Given the description of an element on the screen output the (x, y) to click on. 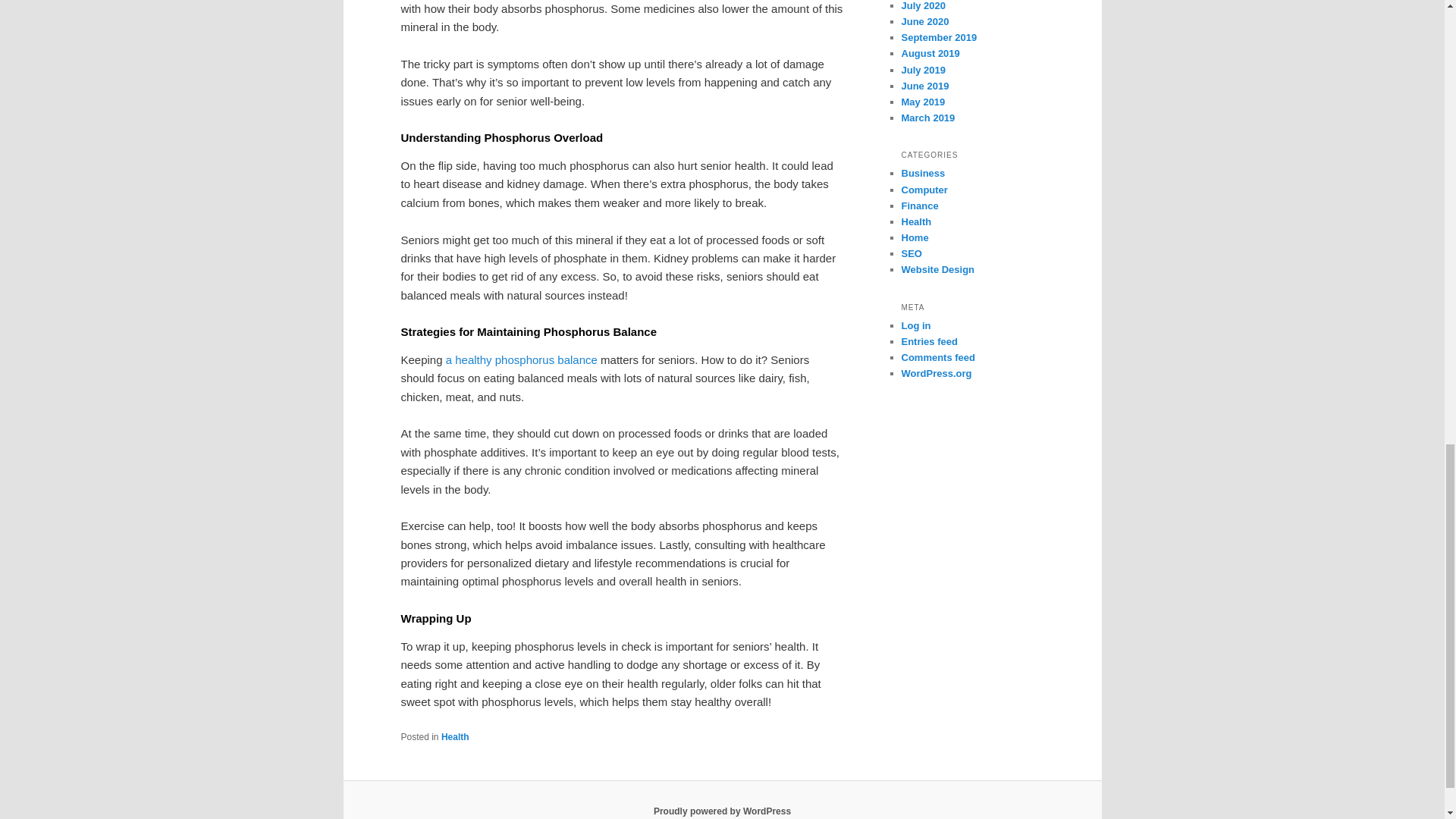
July 2020 (922, 5)
Health (454, 737)
September 2019 (938, 37)
a healthy phosphorus balance (520, 359)
June 2020 (925, 21)
August 2019 (930, 52)
Semantic Personal Publishing Platform (721, 810)
